Given the description of an element on the screen output the (x, y) to click on. 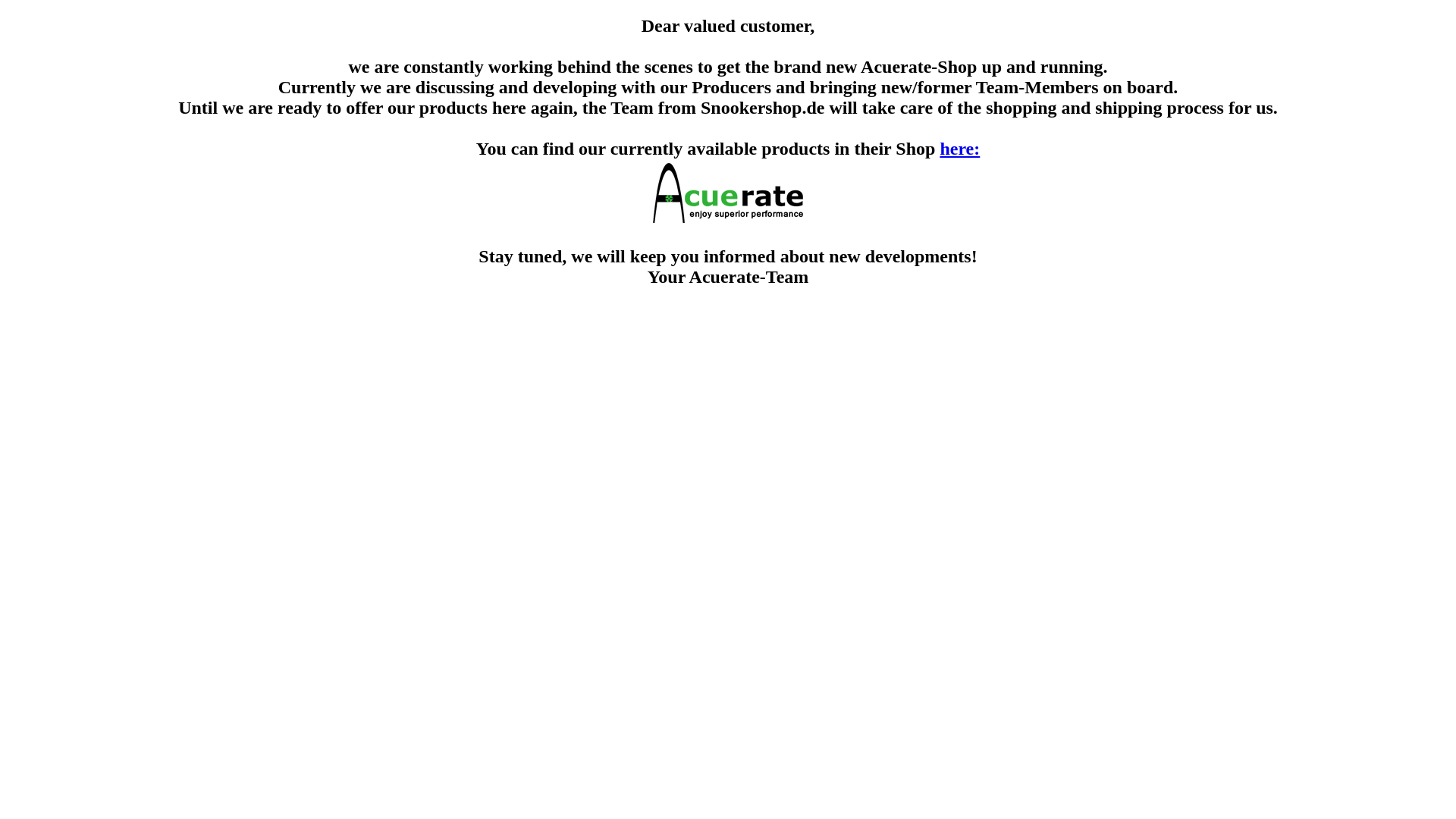
here: Element type: text (727, 191)
